Given the description of an element on the screen output the (x, y) to click on. 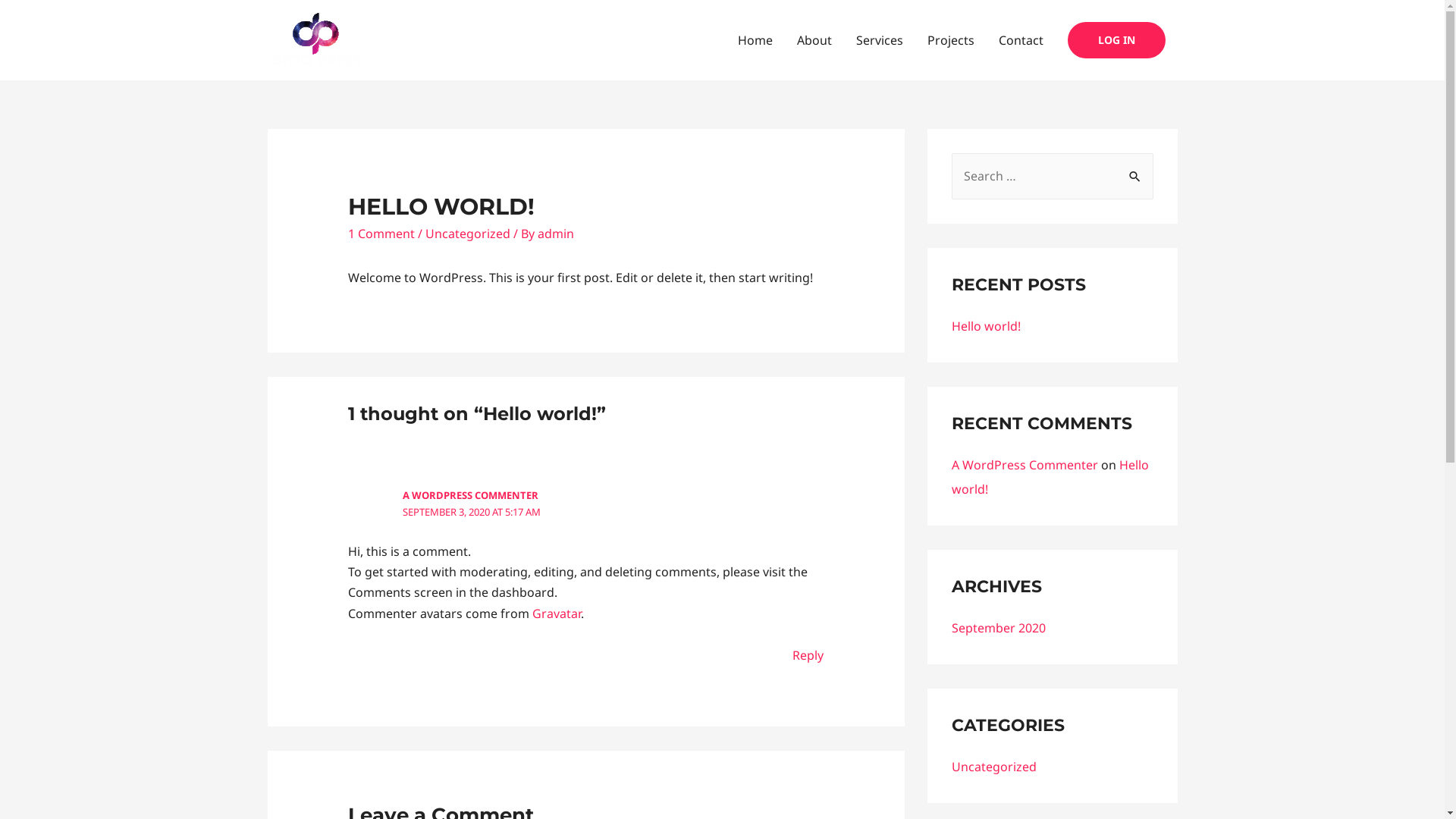
Services Element type: text (878, 39)
Search Element type: text (1136, 169)
A WordPress Commenter Element type: text (1023, 464)
1 Comment Element type: text (381, 233)
Hello world! Element type: text (984, 325)
SEPTEMBER 3, 2020 AT 5:17 AM Element type: text (471, 511)
A WORDPRESS COMMENTER Element type: text (470, 495)
Uncategorized Element type: text (992, 766)
Uncategorized Element type: text (467, 233)
Reply Element type: text (807, 654)
LOG IN Element type: text (1116, 39)
Hello world! Element type: text (1049, 476)
admin Element type: text (555, 233)
Projects Element type: text (949, 39)
Contact Element type: text (1019, 39)
September 2020 Element type: text (997, 627)
About Element type: text (813, 39)
Home Element type: text (754, 39)
Gravatar Element type: text (556, 613)
